Given the description of an element on the screen output the (x, y) to click on. 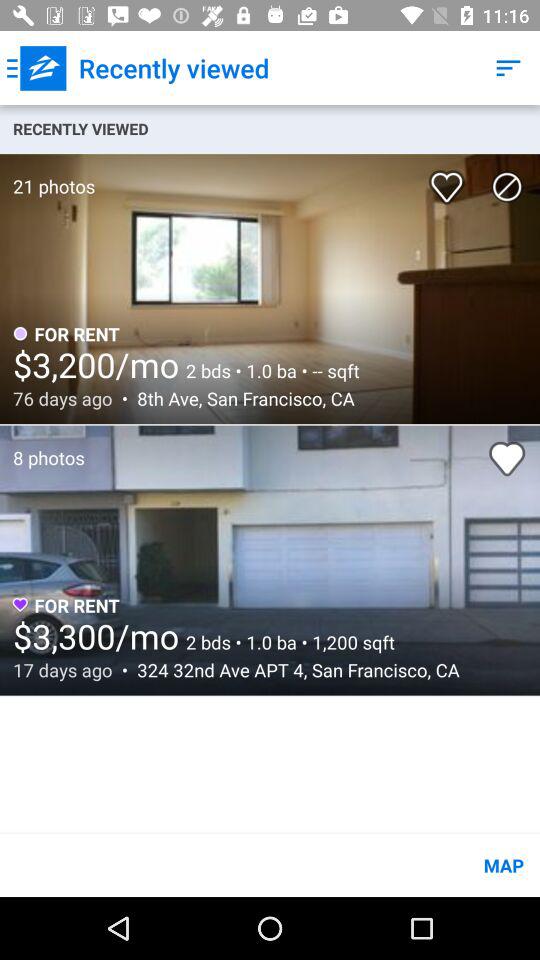
turn off icon below recently viewed item (507, 186)
